Given the description of an element on the screen output the (x, y) to click on. 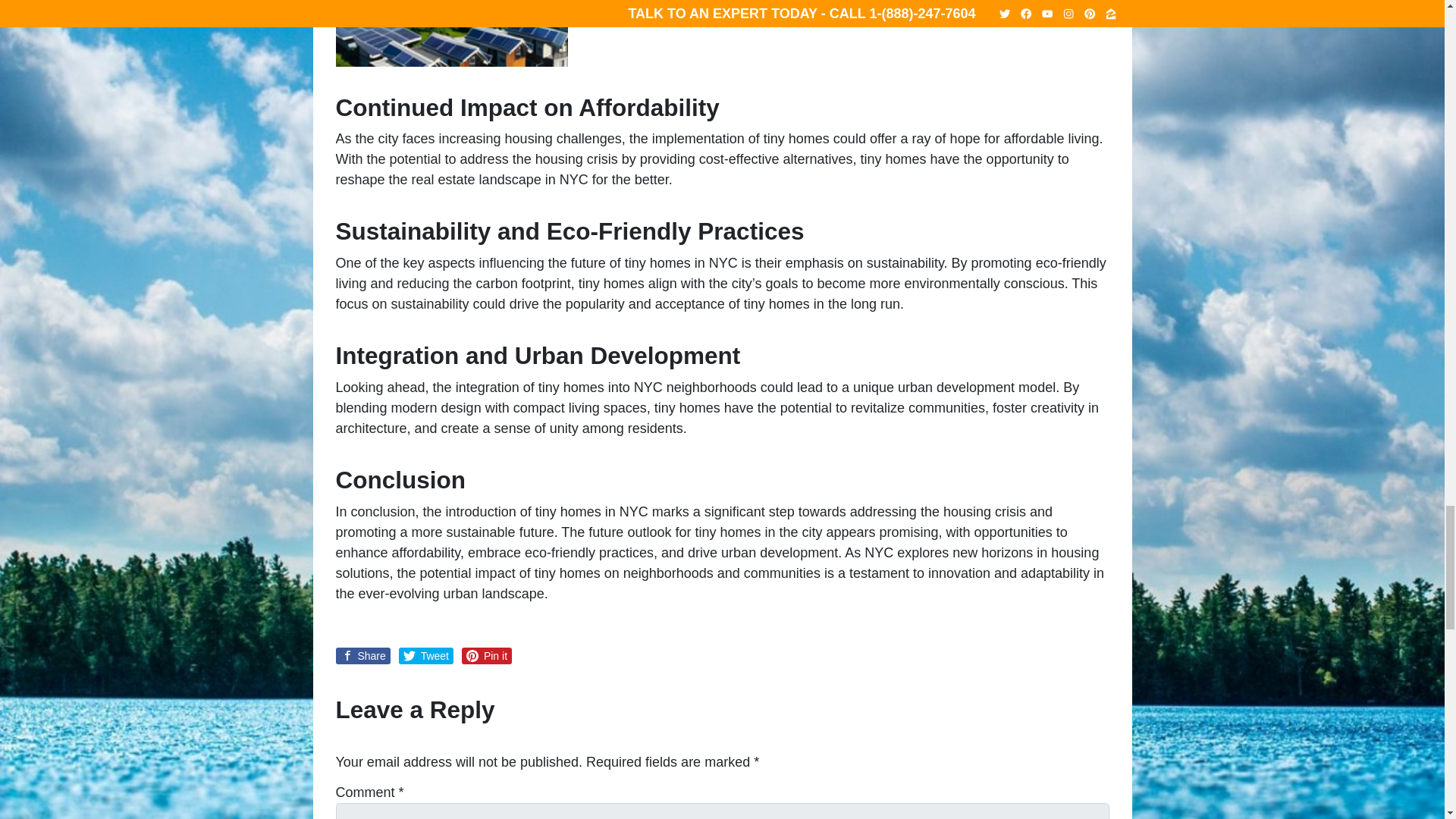
Share on Pinterest (486, 655)
Share on Twitter (425, 655)
Pin it (486, 655)
Share (362, 655)
Tweet (425, 655)
Share on Facebook (362, 655)
